Given the description of an element on the screen output the (x, y) to click on. 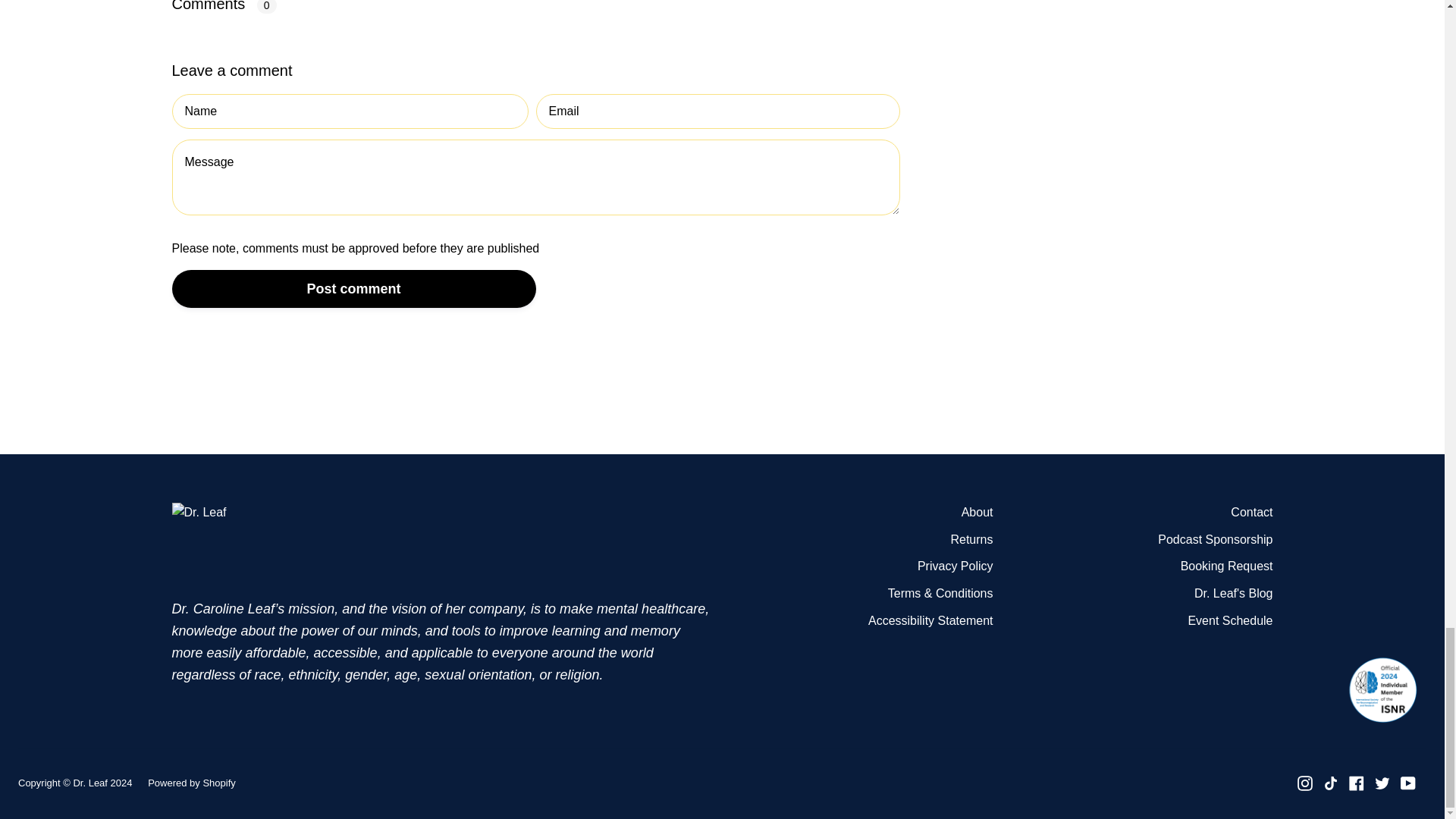
Dr. Leaf on Facebook (1356, 783)
Dr. Leaf on Twitter (1382, 783)
Dr. Leaf on TikTok (1330, 783)
Post comment (353, 288)
Dr. Leaf on YouTube (1407, 783)
Dr. Leaf on Instagram (1305, 783)
